Given the description of an element on the screen output the (x, y) to click on. 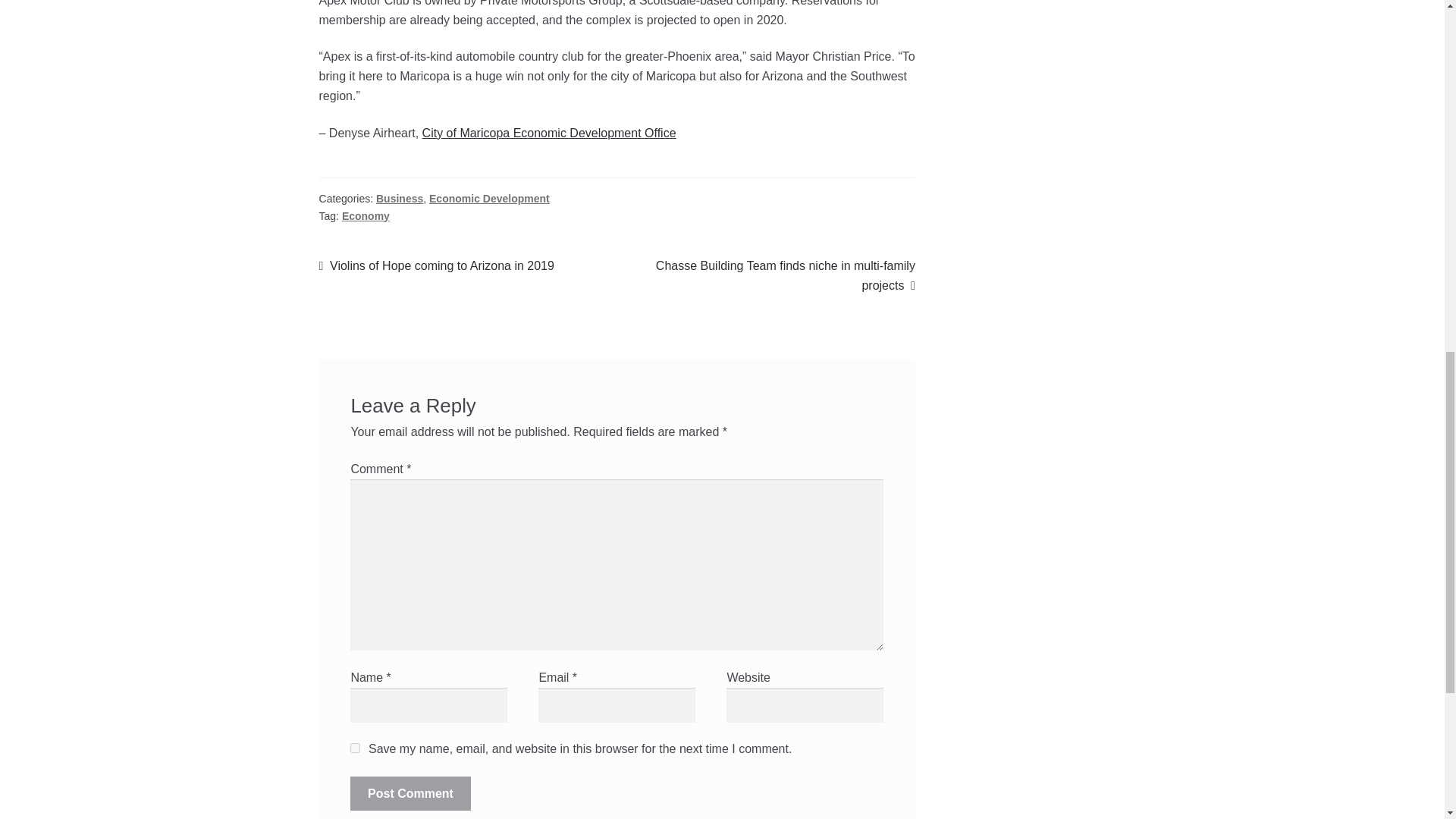
yes (354, 747)
Economy (366, 215)
Economic Development (489, 198)
Post Comment (410, 793)
Post Comment (410, 793)
Business (436, 266)
City of Maricopa Economic Development Office (399, 198)
